Given the description of an element on the screen output the (x, y) to click on. 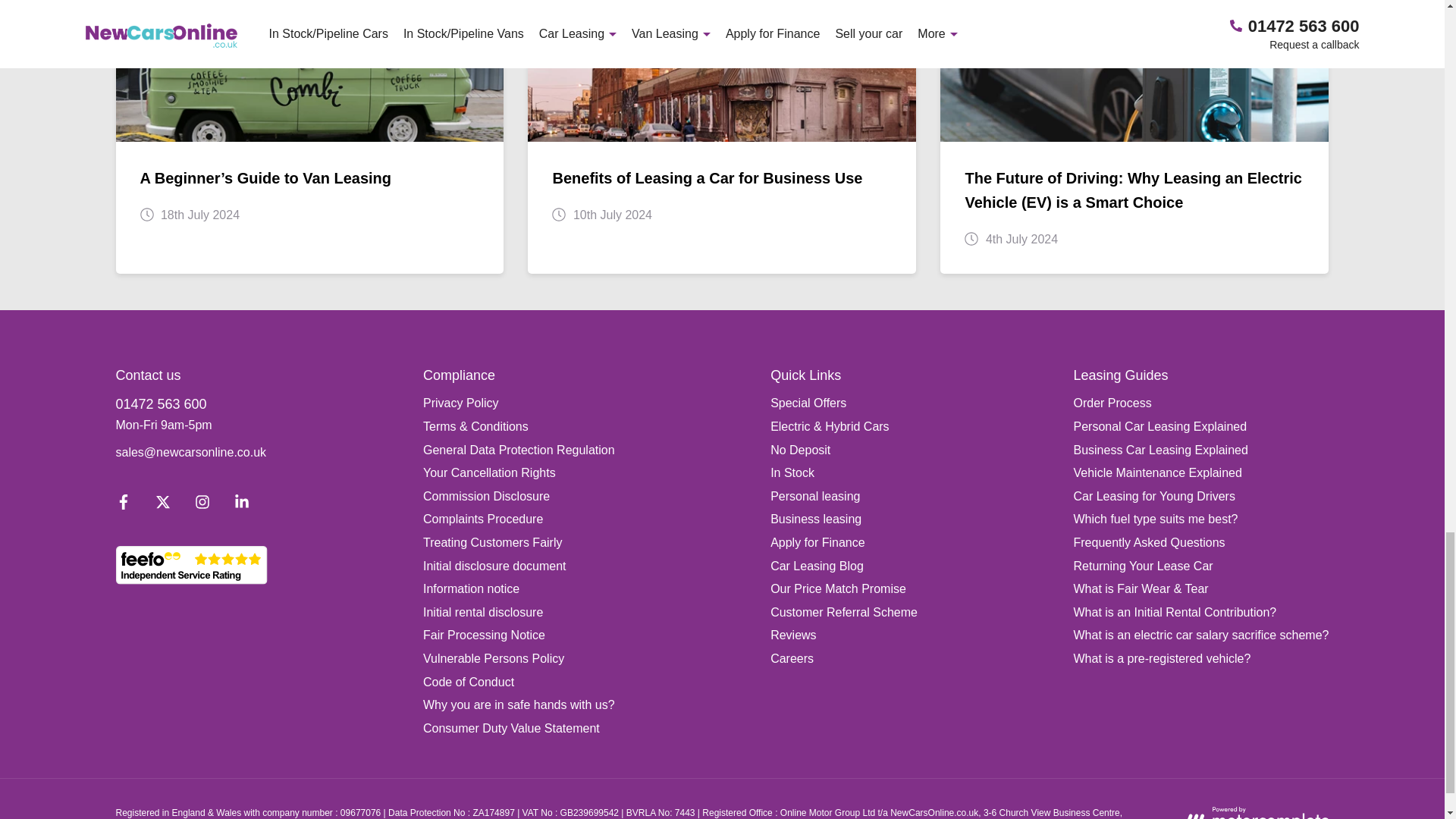
Instagram (201, 504)
Twitter (162, 504)
Car lease broker websites by MotorComplete (1256, 812)
LinkedIn (240, 504)
Facebook (122, 504)
See what our customers say about us (190, 565)
